Given the description of an element on the screen output the (x, y) to click on. 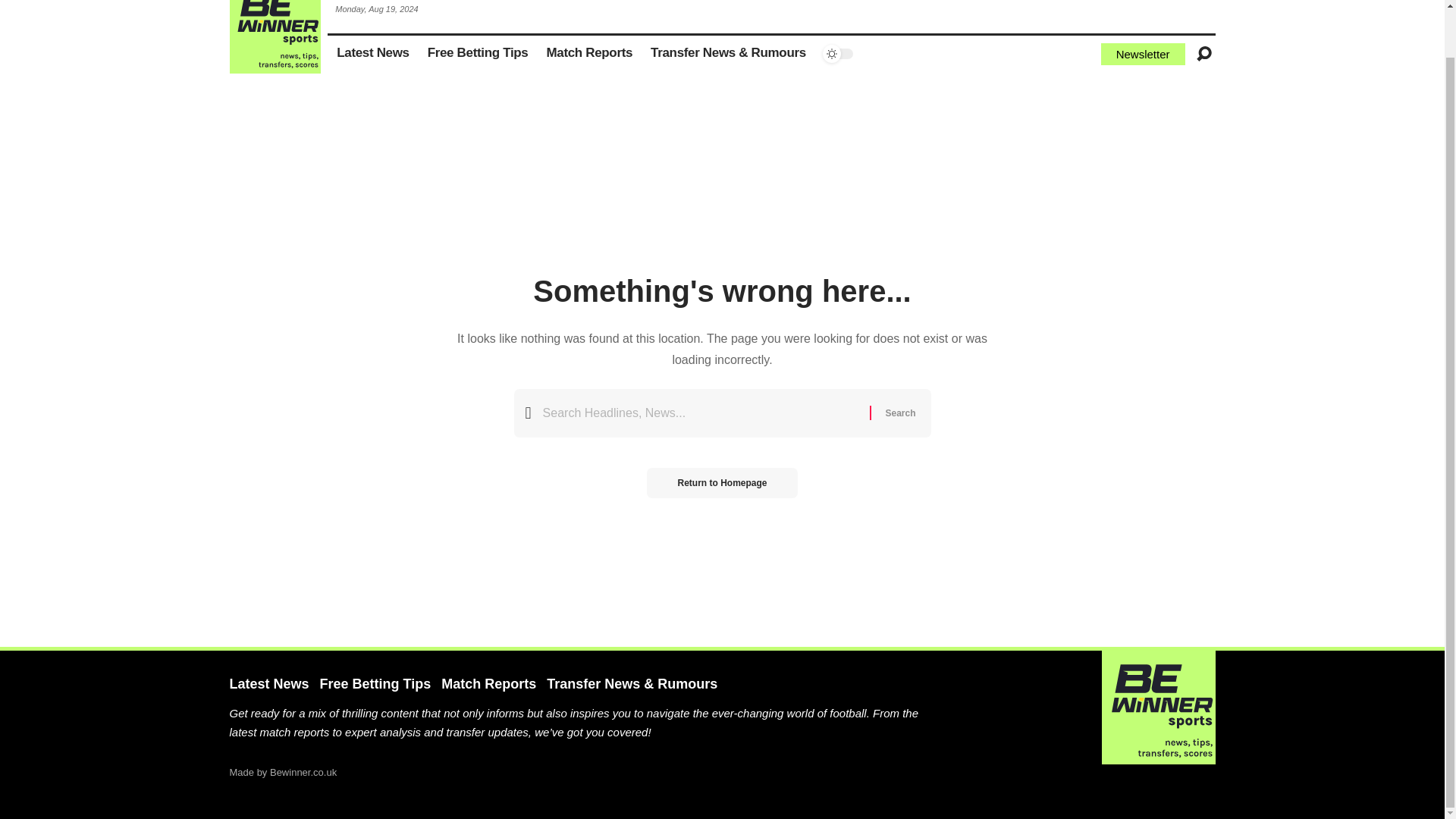
Match Reports (589, 54)
Latest News (372, 54)
Newsletter (1142, 54)
Search (899, 413)
Free Betting Tips (478, 54)
